Given the description of an element on the screen output the (x, y) to click on. 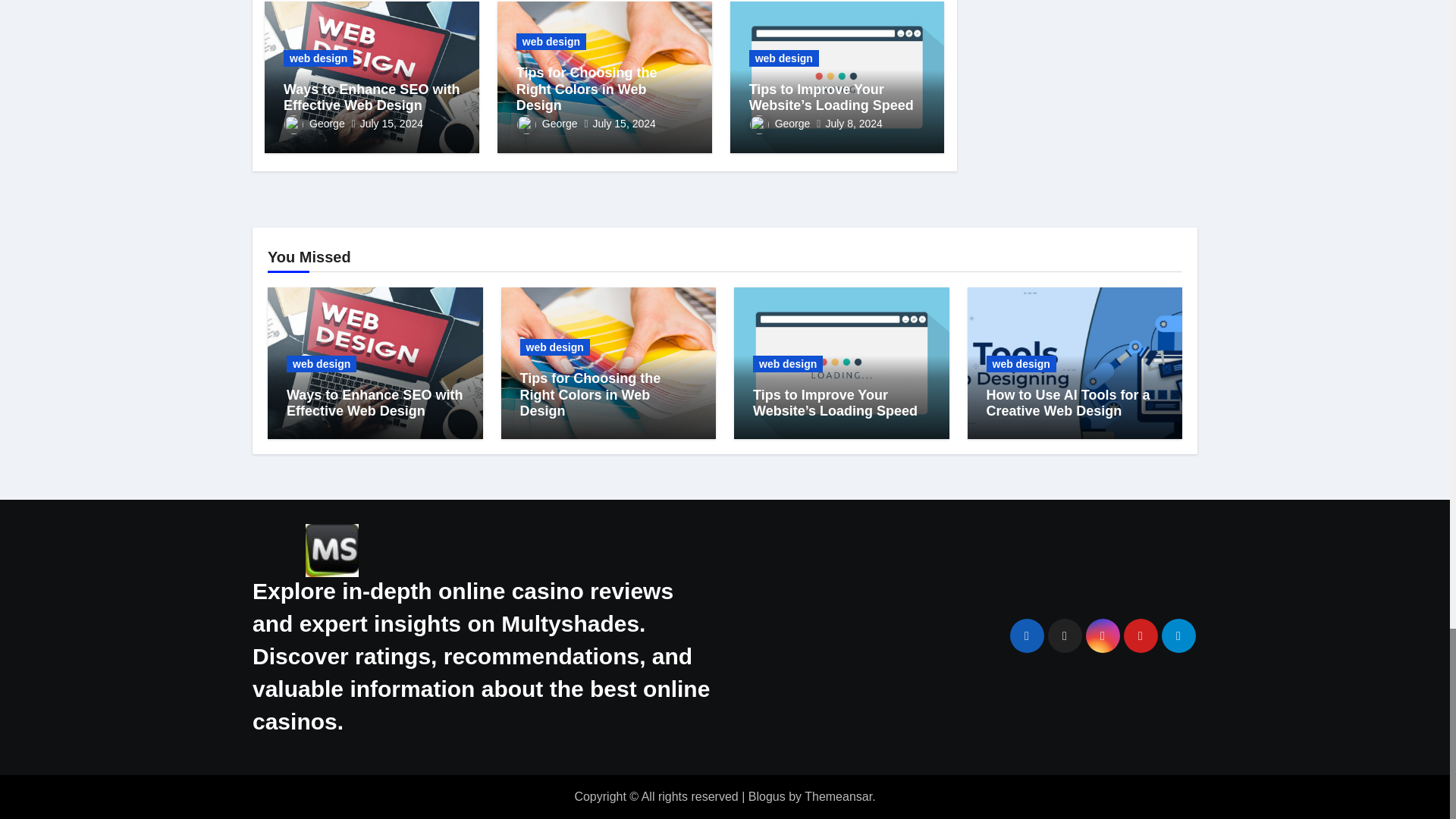
Permalink to: Ways to Enhance SEO with Effective Web Design (371, 97)
Permalink to: How to Use AI Tools for a Creative Web Design (1067, 403)
Permalink to: Ways to Enhance SEO with Effective Web Design (374, 403)
